Given the description of an element on the screen output the (x, y) to click on. 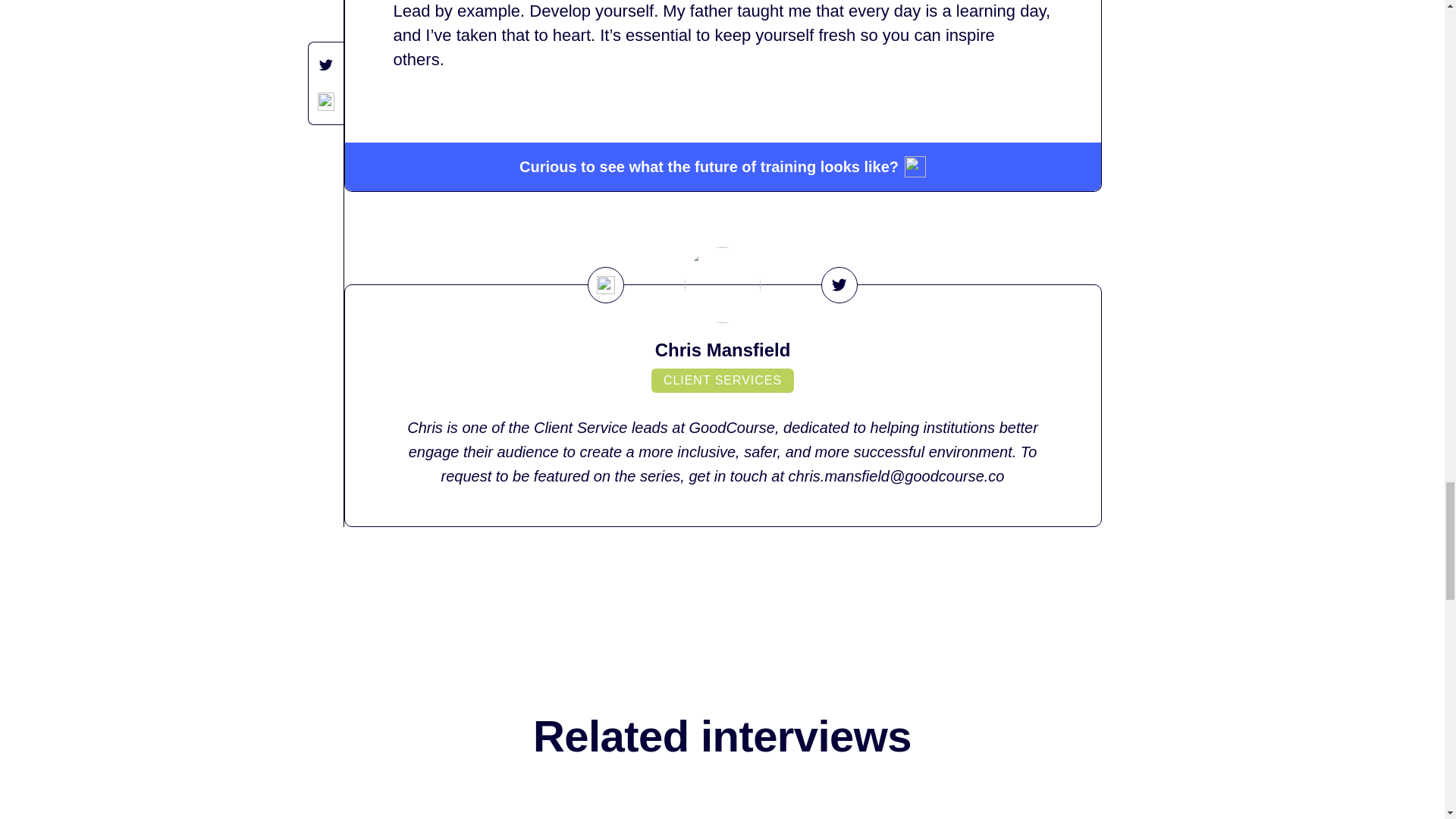
Curious to see what the future of training looks like? (721, 166)
